Given the description of an element on the screen output the (x, y) to click on. 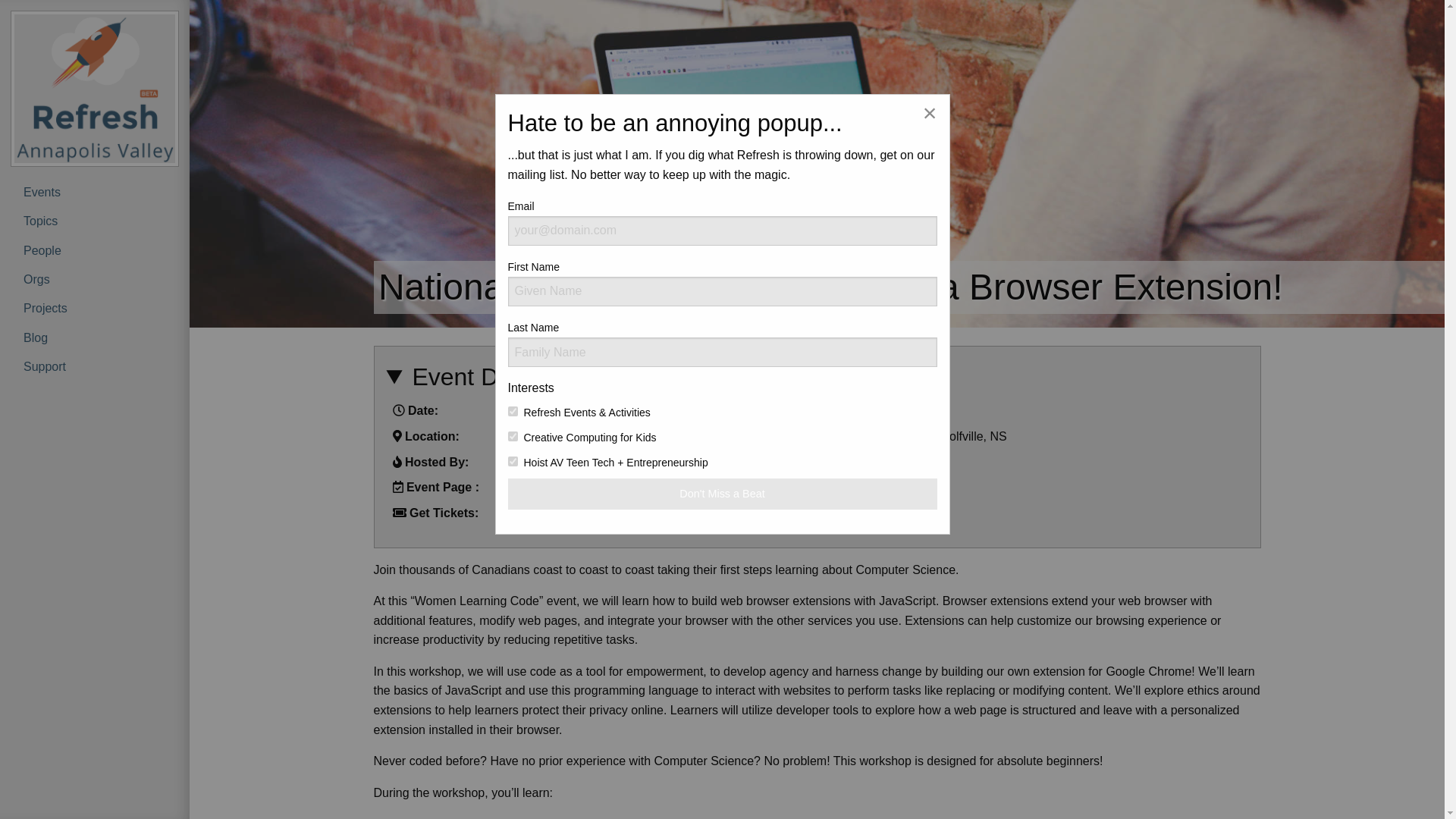
Topics (94, 221)
People (94, 249)
Projects (94, 308)
on (513, 436)
Blog (94, 337)
Support (94, 366)
Refresh AV Meetups (561, 461)
Facebook (532, 486)
on (513, 411)
Don't Miss a Beat (722, 493)
Orgs (94, 279)
on (513, 461)
Eventbright (536, 512)
Don't Miss a Beat (722, 493)
Events (94, 192)
